Given the description of an element on the screen output the (x, y) to click on. 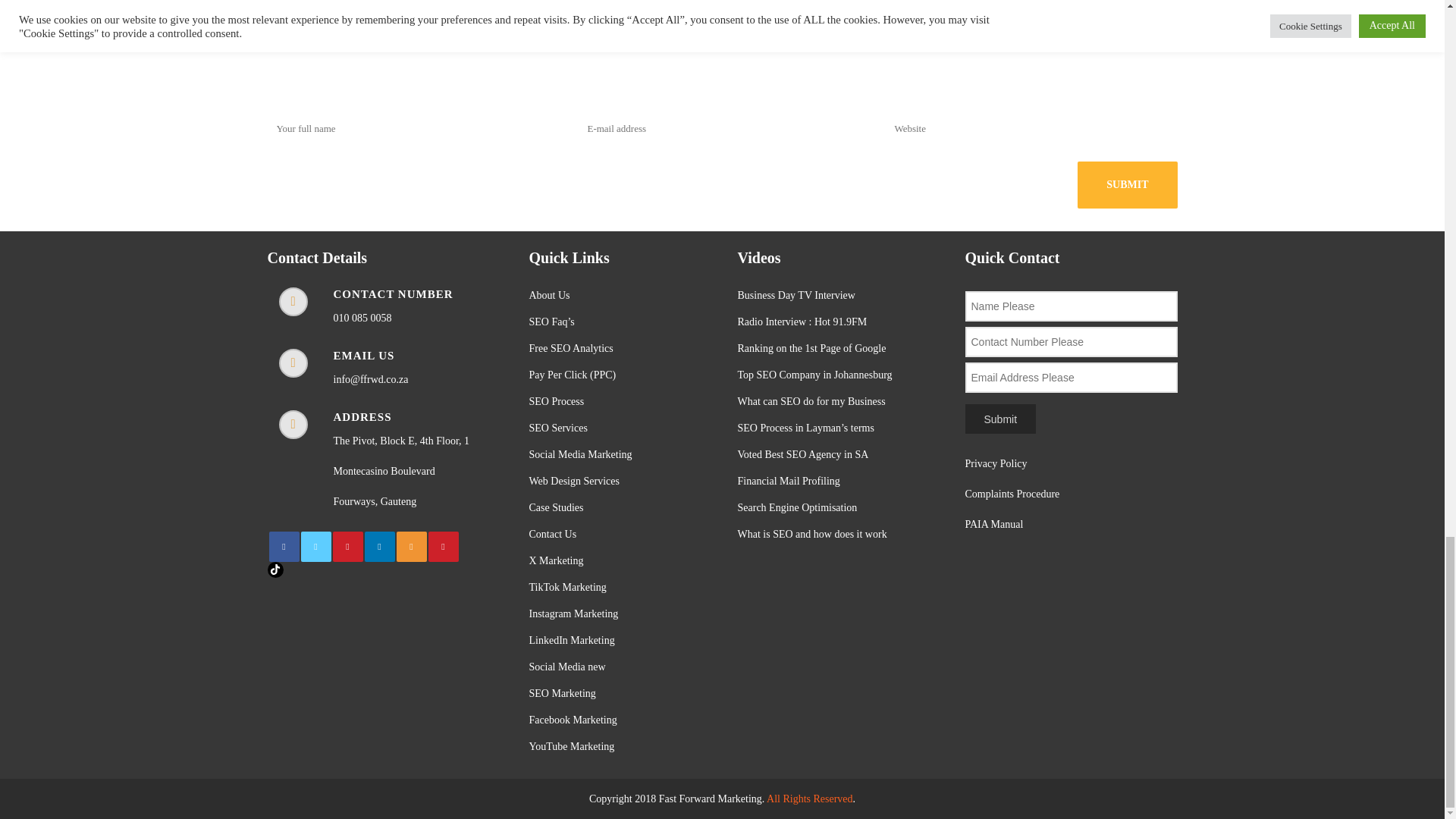
Submit (1126, 184)
